Given the description of an element on the screen output the (x, y) to click on. 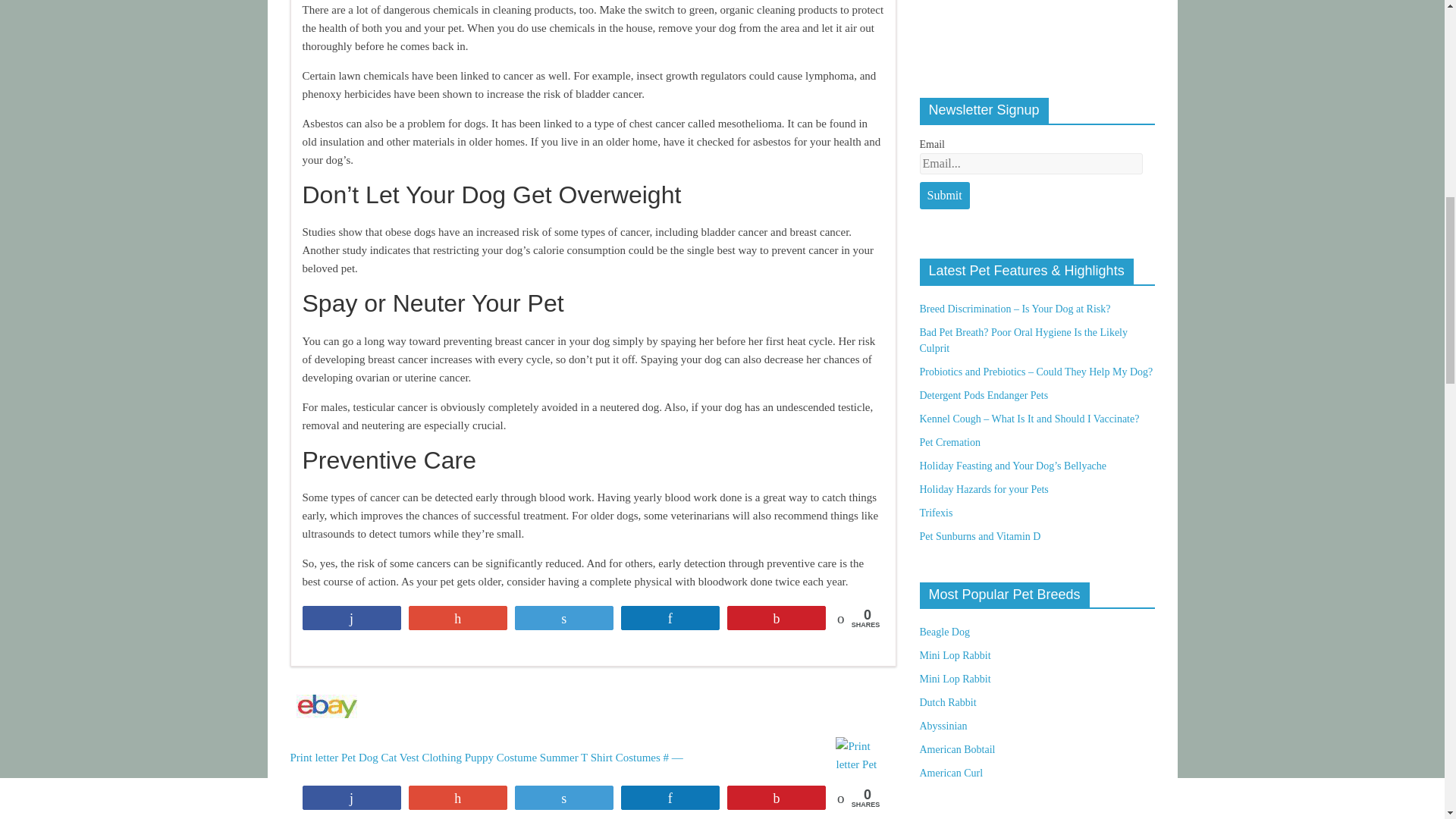
Submit (943, 195)
